Given the description of an element on the screen output the (x, y) to click on. 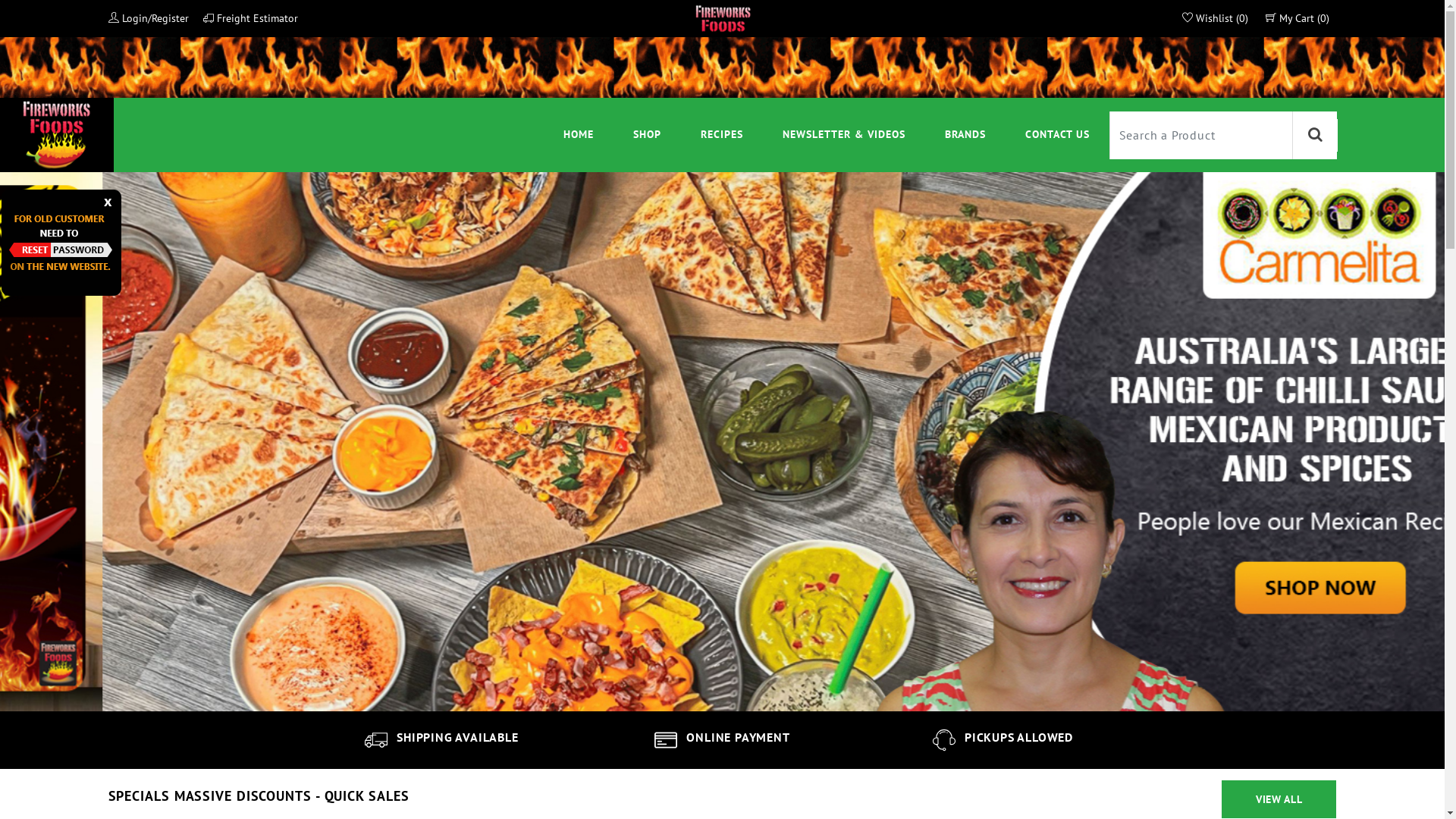
Freight Estimator Element type: text (250, 18)
BRANDS Element type: text (965, 134)
Login/Register Element type: text (147, 18)
HOME Element type: text (578, 134)
Wishlist (0) Element type: text (1214, 18)
RECIPES Element type: text (721, 134)
SHOP Element type: text (646, 134)
My Cart (0) Element type: text (1296, 18)
CONTACT US Element type: text (1057, 134)
NEWSLETTER & VIDEOS Element type: text (843, 134)
VIEW ALL Element type: text (1278, 799)
